Given the description of an element on the screen output the (x, y) to click on. 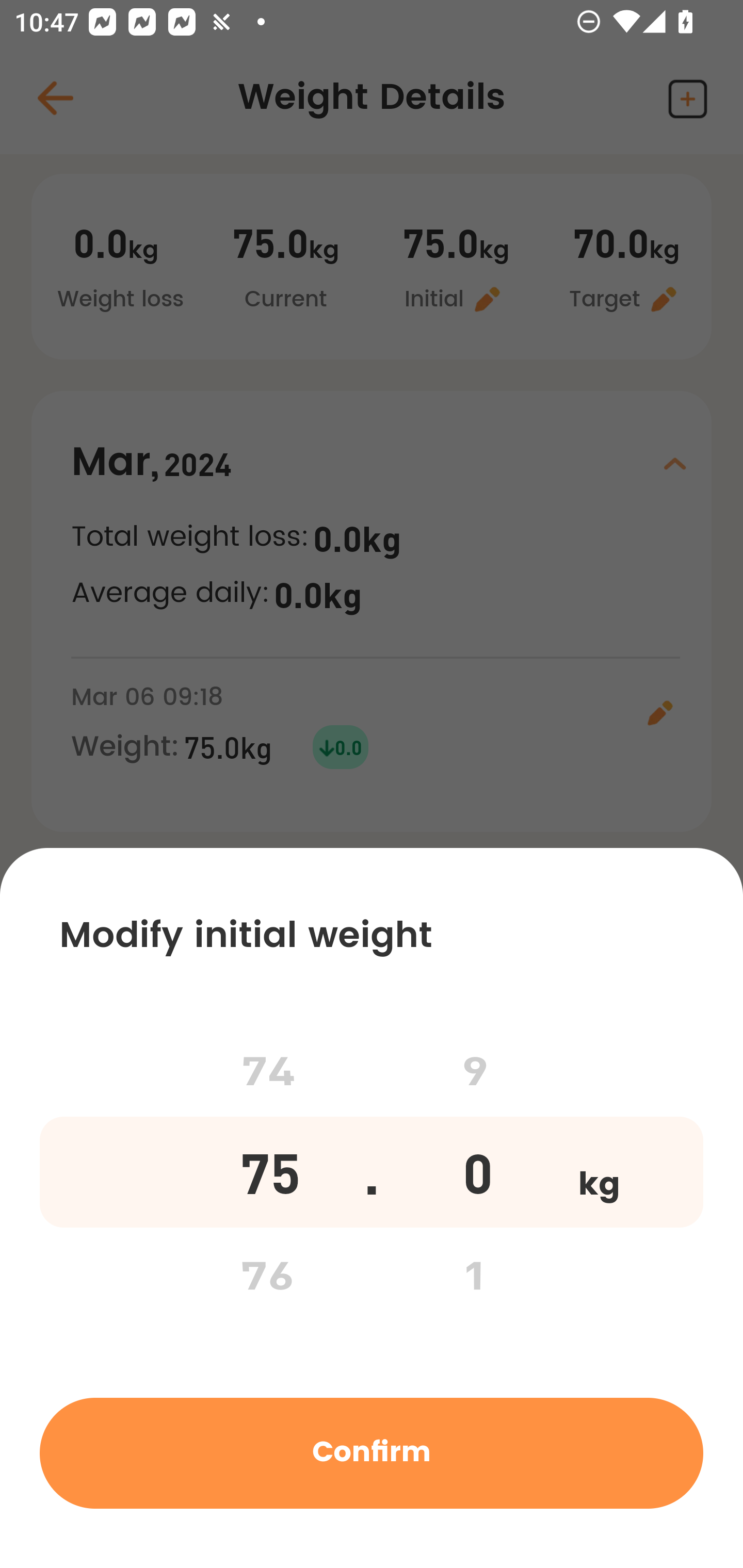
Confirm (371, 1452)
